Given the description of an element on the screen output the (x, y) to click on. 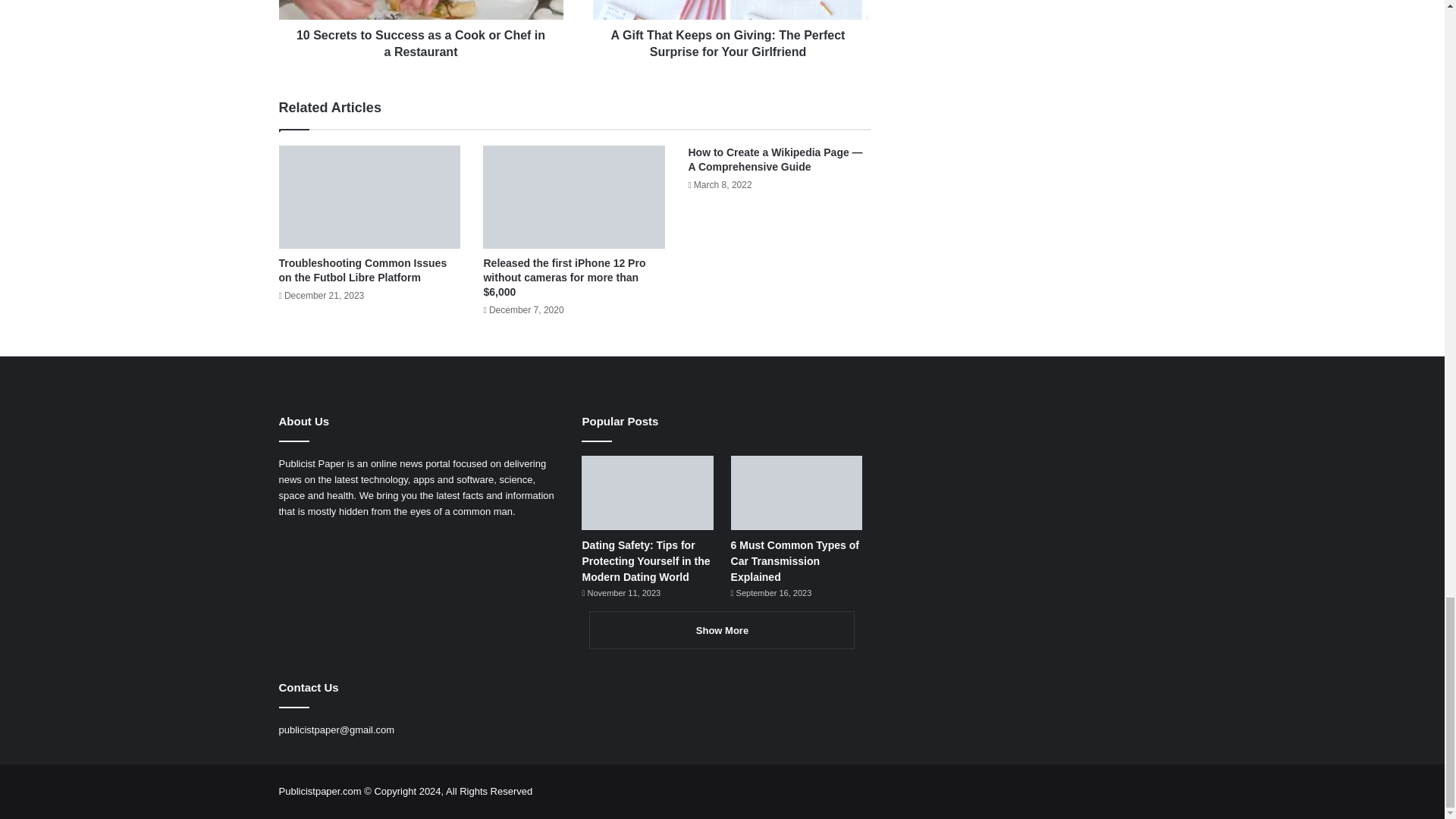
10 Secrets to Success as a Cook or Chef in a Restaurant (421, 39)
Troubleshooting Common Issues on the Futbol Libre Platform (362, 269)
